Given the description of an element on the screen output the (x, y) to click on. 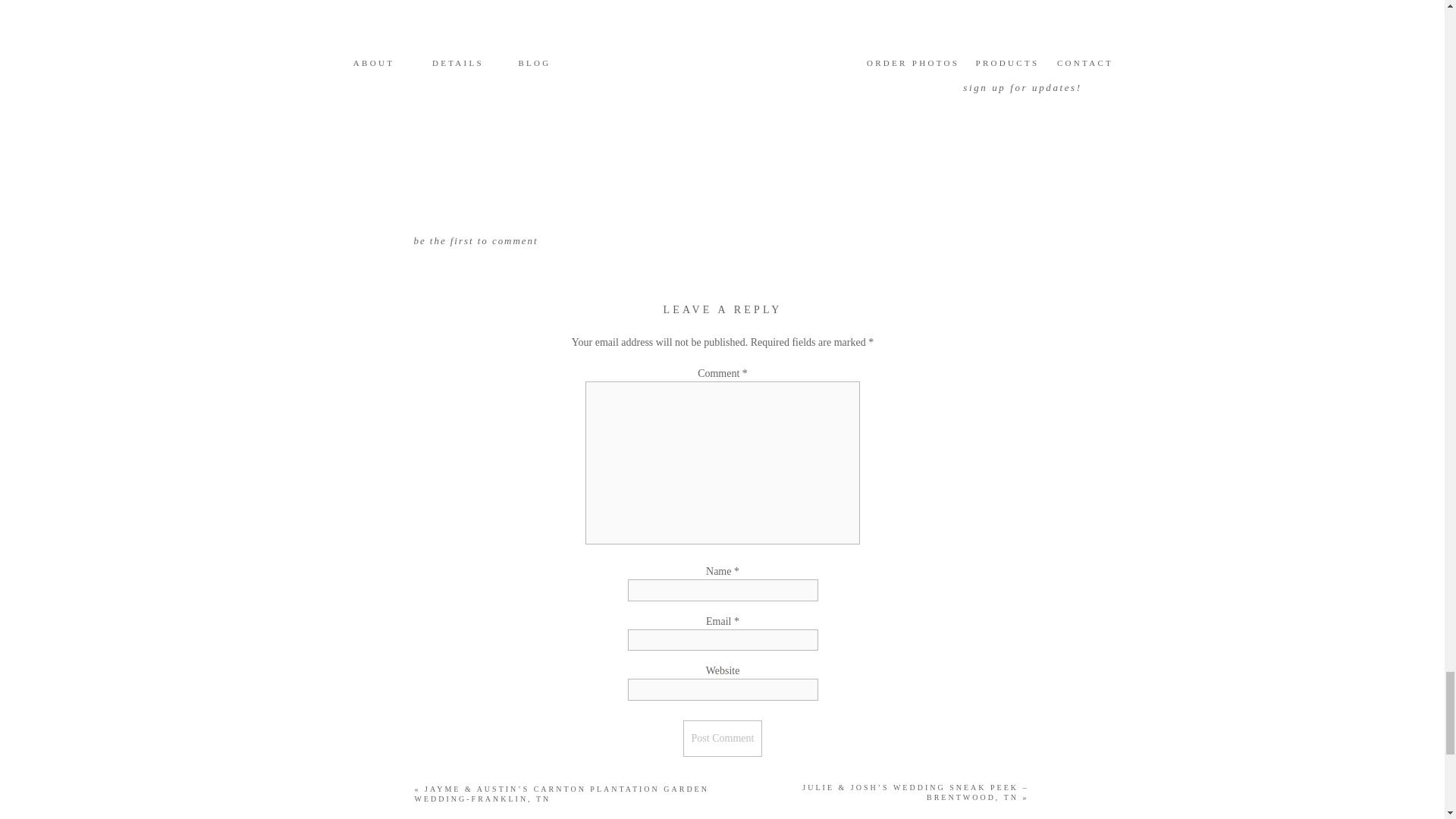
Post Comment (722, 738)
be the first to comment (475, 240)
Post Comment (722, 738)
